Given the description of an element on the screen output the (x, y) to click on. 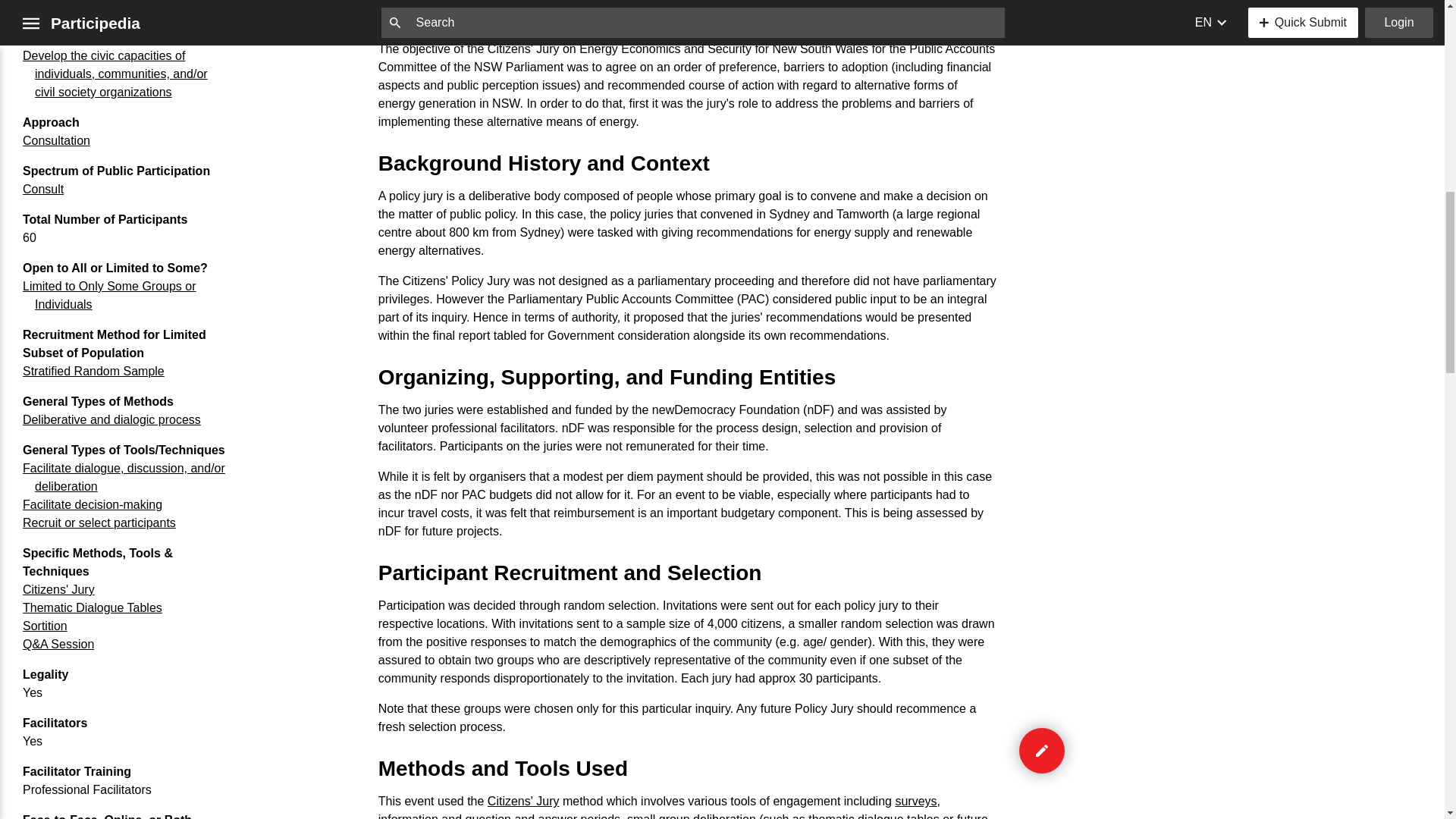
Consultation (56, 140)
Sortition (44, 625)
Facilitate decision-making (92, 504)
Consult (43, 188)
Limited to Only Some Groups or Individuals (109, 295)
Thematic Dialogue Tables (92, 607)
Stratified Random Sample (93, 370)
Citizens' Jury (58, 589)
Recruit or select participants (99, 522)
Deliberative and dialogic process (111, 419)
